Given the description of an element on the screen output the (x, y) to click on. 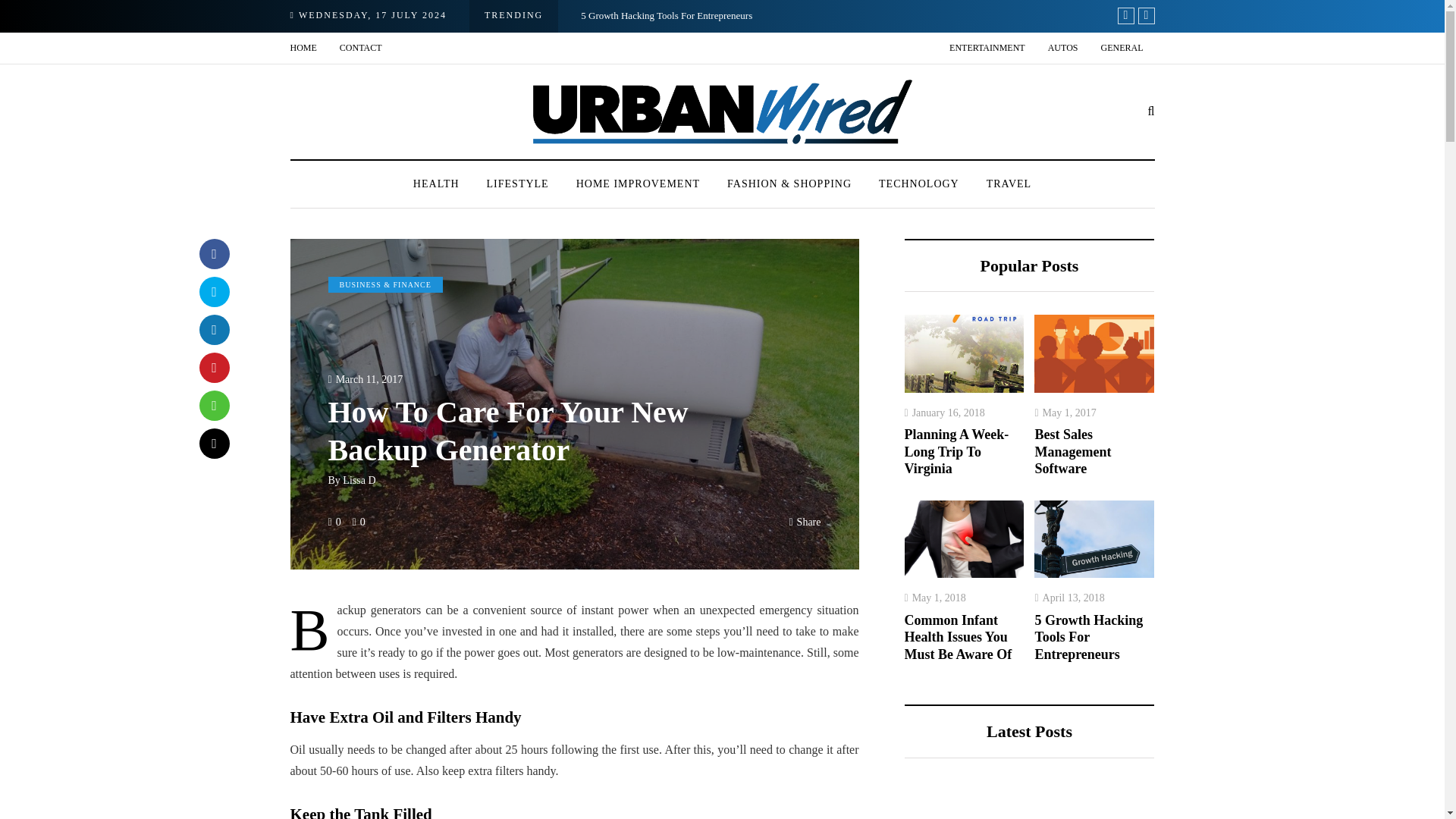
5 Growth Hacking Tools For Entrepreneurs (666, 15)
AUTOS (1062, 47)
HOME (308, 47)
TRAVEL (1008, 184)
Share to WhatsApp (213, 405)
Posts by Lissa D (358, 480)
Share by Email (213, 443)
CONTACT (361, 47)
TECHNOLOGY (918, 184)
Lissa D (358, 480)
Pin this (213, 367)
GENERAL (1121, 47)
HOME IMPROVEMENT (637, 184)
ENTERTAINMENT (986, 47)
HEALTH (435, 184)
